Given the description of an element on the screen output the (x, y) to click on. 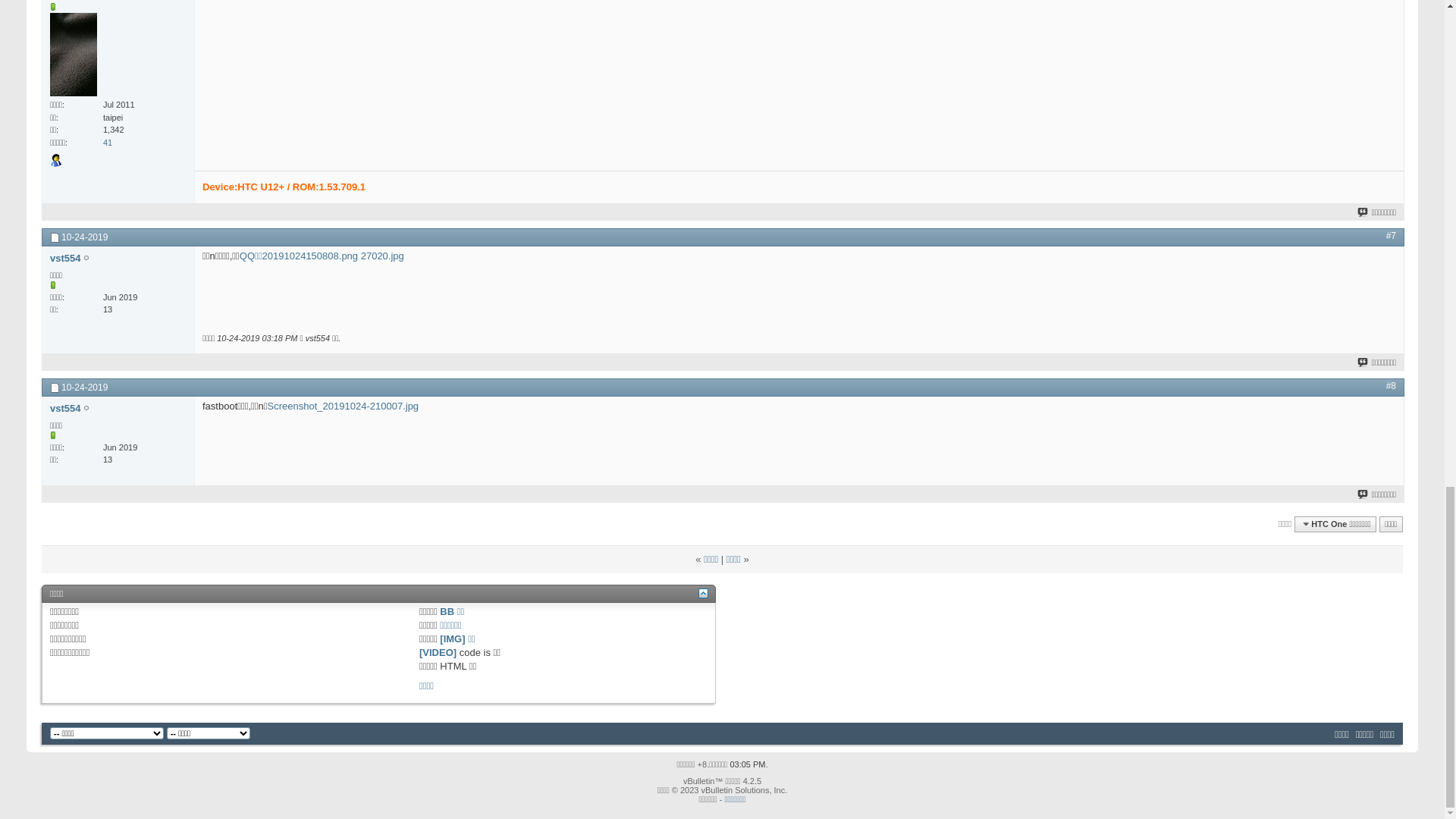
nenebear Element type: text (72, 768)
Calendar Element type: text (134, 170)
nenebear Element type: text (72, 358)
Community Element type: text (183, 170)
Home Element type: hover (45, 82)
vst554 Element type: text (65, 226)
#3 Element type: text (1391, 613)
#1 Element type: text (1391, 204)
vst554 Element type: text (65, 636)
41 Element type: text (107, 521)
#4 Element type: text (1391, 745)
nenebear is on a distinguished road Element type: hover (118, 794)
nenebear is on a distinguished road Element type: hover (118, 385)
vst554 is an unknown quantity at this point Element type: hover (118, 253)
vst554 is an unknown quantity at this point Element type: hover (118, 663)
FAQ Element type: text (101, 170)
#2 Element type: text (1391, 335)
Quick Links Element type: text (313, 170)
Forum Actions Element type: text (248, 170)
New Posts Element type: text (65, 170)
